Given the description of an element on the screen output the (x, y) to click on. 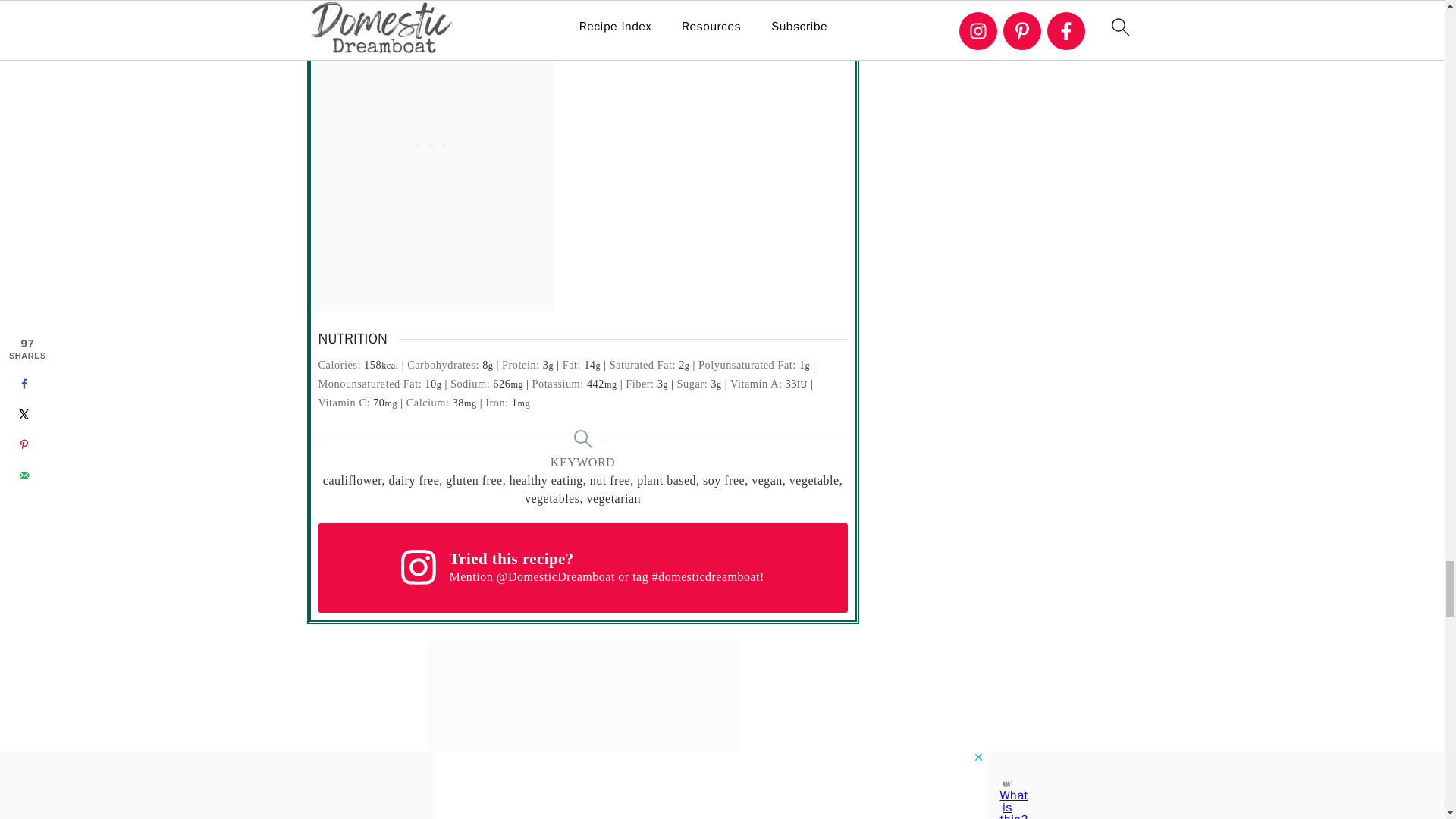
Crispy Roasted Cauliflower (582, 729)
